Given the description of an element on the screen output the (x, y) to click on. 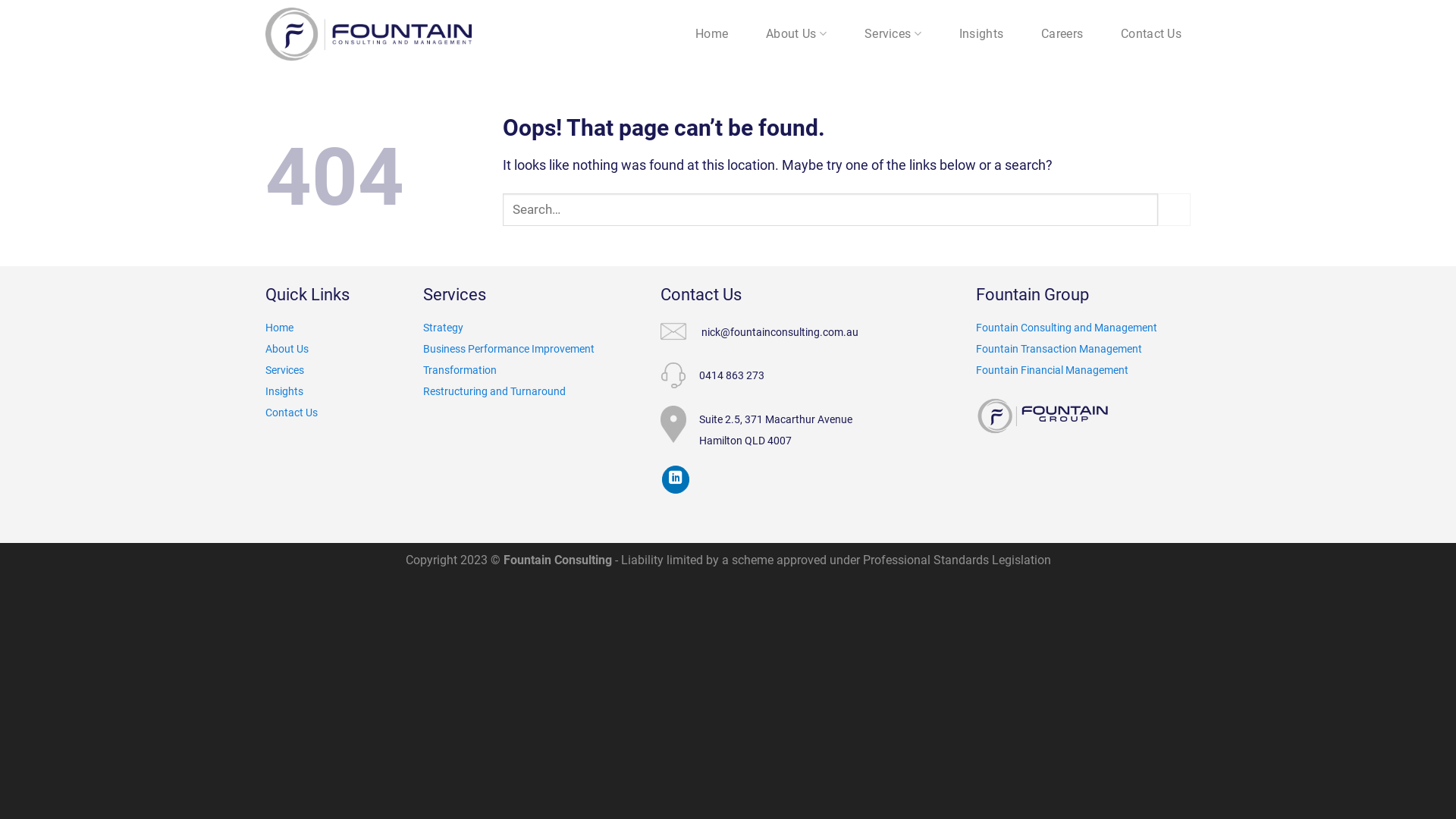
Follow on LinkedIn Element type: hover (675, 479)
Careers Element type: text (1062, 34)
Transformation Element type: text (508, 380)
Fountain Consulting and Management Element type: text (1066, 327)
Services Element type: text (284, 370)
Contact Us Element type: text (1150, 34)
About Us Element type: text (795, 34)
Services Element type: text (892, 34)
Fountain Financial Management Element type: text (1051, 370)
Home Element type: text (711, 34)
Insights Element type: text (981, 34)
Insights Element type: text (284, 391)
Business Performance Improvement Element type: text (508, 348)
Strategy Element type: text (443, 327)
Restructuring and Turnaround Element type: text (494, 391)
Fountain Transaction Management Element type: text (1058, 348)
Home Element type: text (279, 327)
About Us Element type: text (286, 348)
Contact Us Element type: text (291, 412)
